Given the description of an element on the screen output the (x, y) to click on. 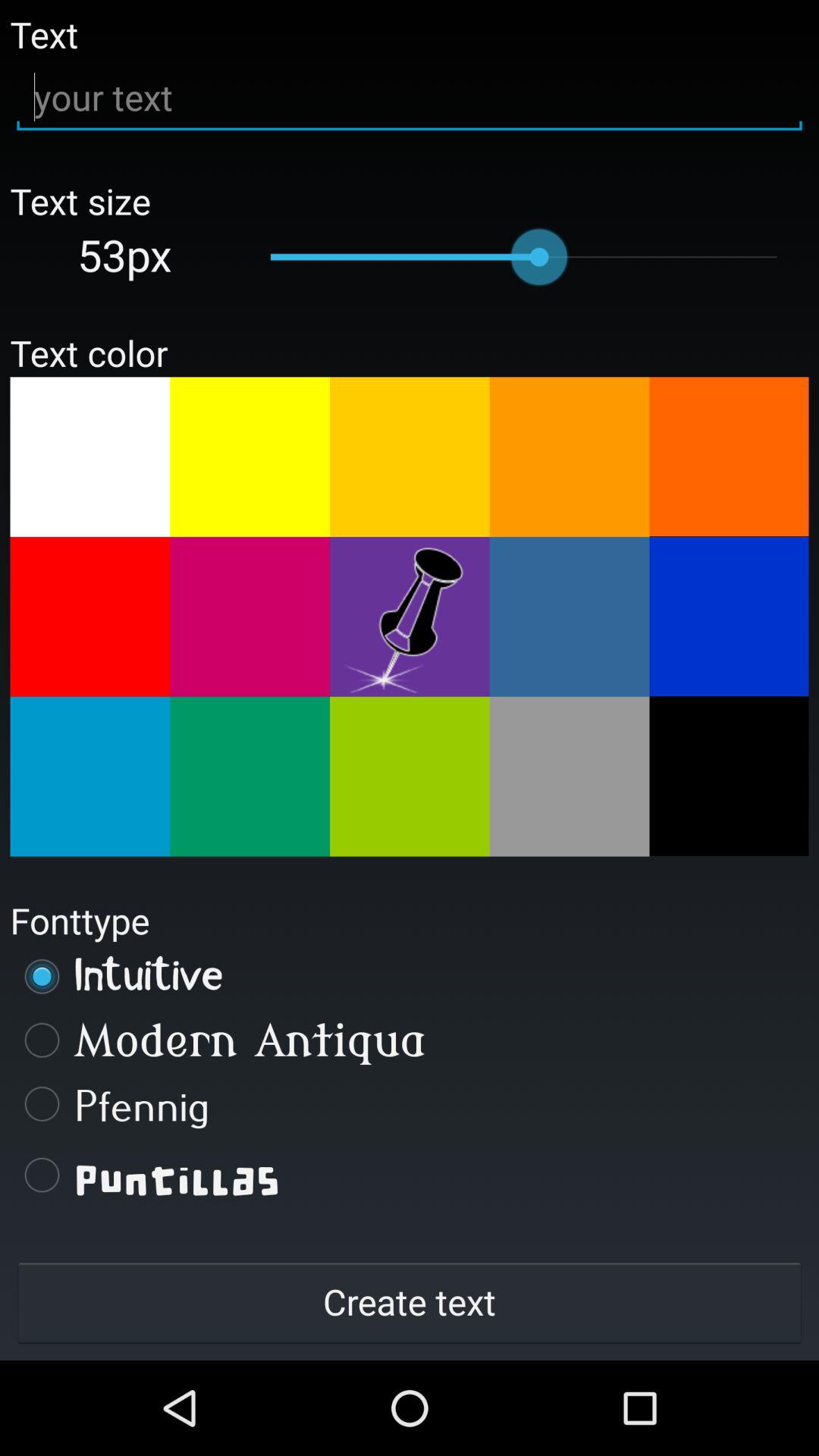
press the icon below modern antiqua item (409, 1103)
